Given the description of an element on the screen output the (x, y) to click on. 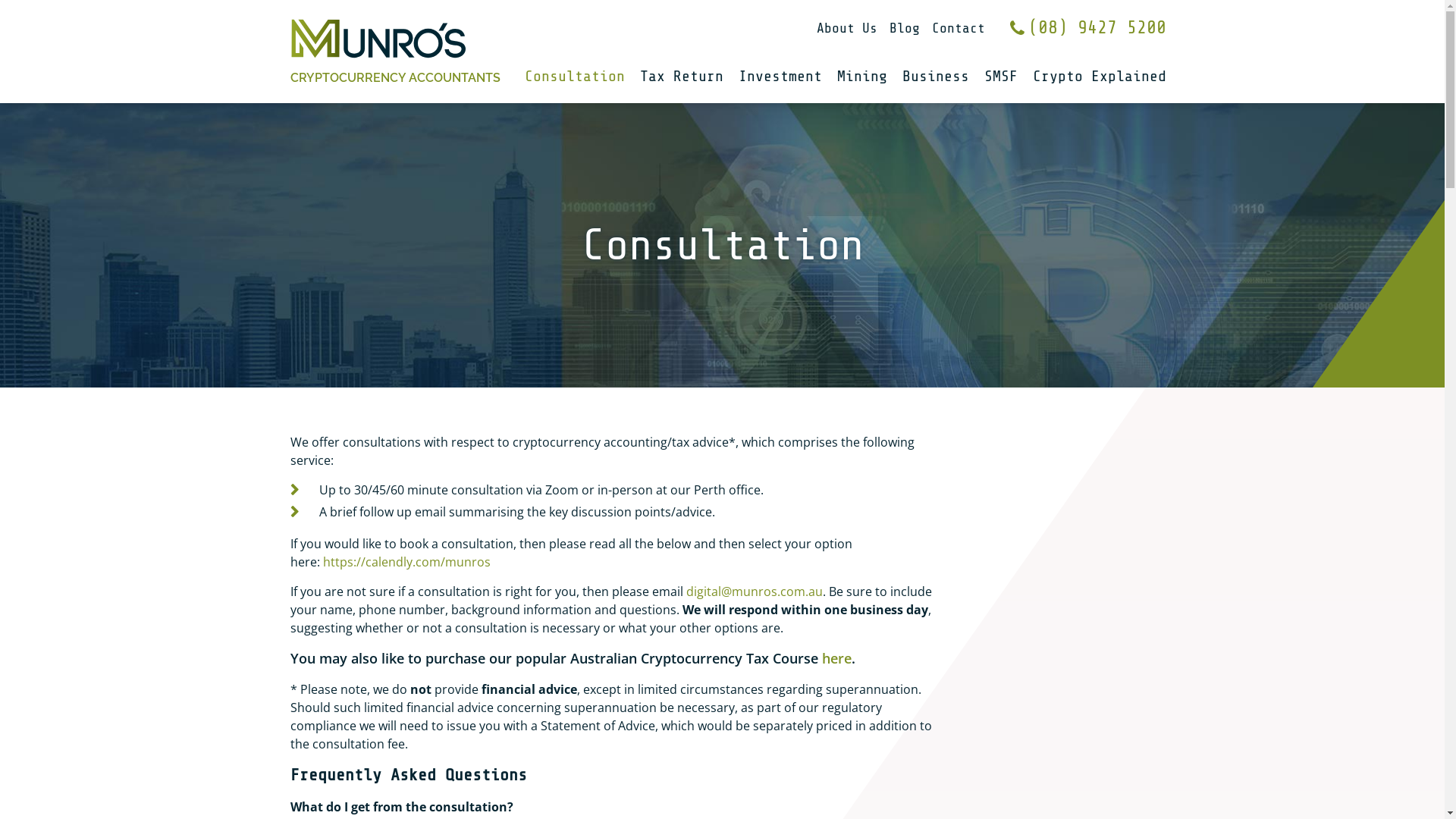
About Us Element type: text (845, 27)
Contact Element type: text (957, 27)
Crypto Explained Element type: text (1099, 76)
Mining Element type: text (862, 76)
digital@munros.com.au Element type: text (753, 591)
here Element type: text (836, 658)
https://calendly.com/munros Element type: text (406, 561)
Consultation Element type: text (574, 76)
Business Element type: text (935, 76)
Investment Element type: text (780, 76)
SMSF Element type: text (1000, 76)
Tax Return Element type: text (681, 76)
Blog Element type: text (903, 27)
CRYPTOCURRENCY ACCOUNTANTS Element type: text (394, 78)
